Given the description of an element on the screen output the (x, y) to click on. 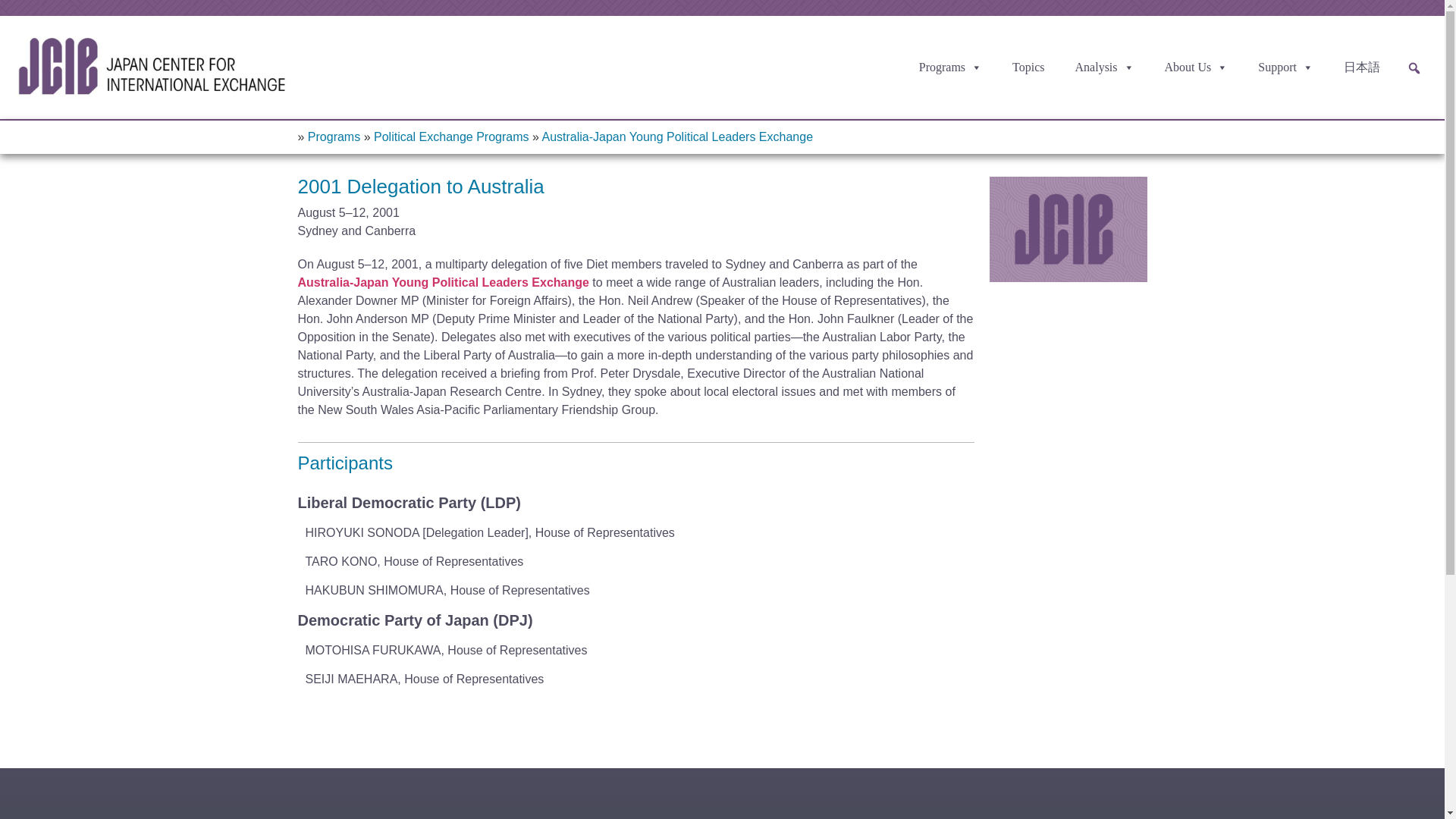
Australia-Japan Young Political Leaders Exchange (442, 282)
Analysis (1108, 67)
Australia-Japan Young Political Leaders Exchange (676, 136)
Programs (333, 136)
About Us (1200, 67)
Search (13, 18)
Support (1288, 67)
Programs (954, 67)
Topics (1031, 67)
Political Exchange Programs (451, 136)
